Given the description of an element on the screen output the (x, y) to click on. 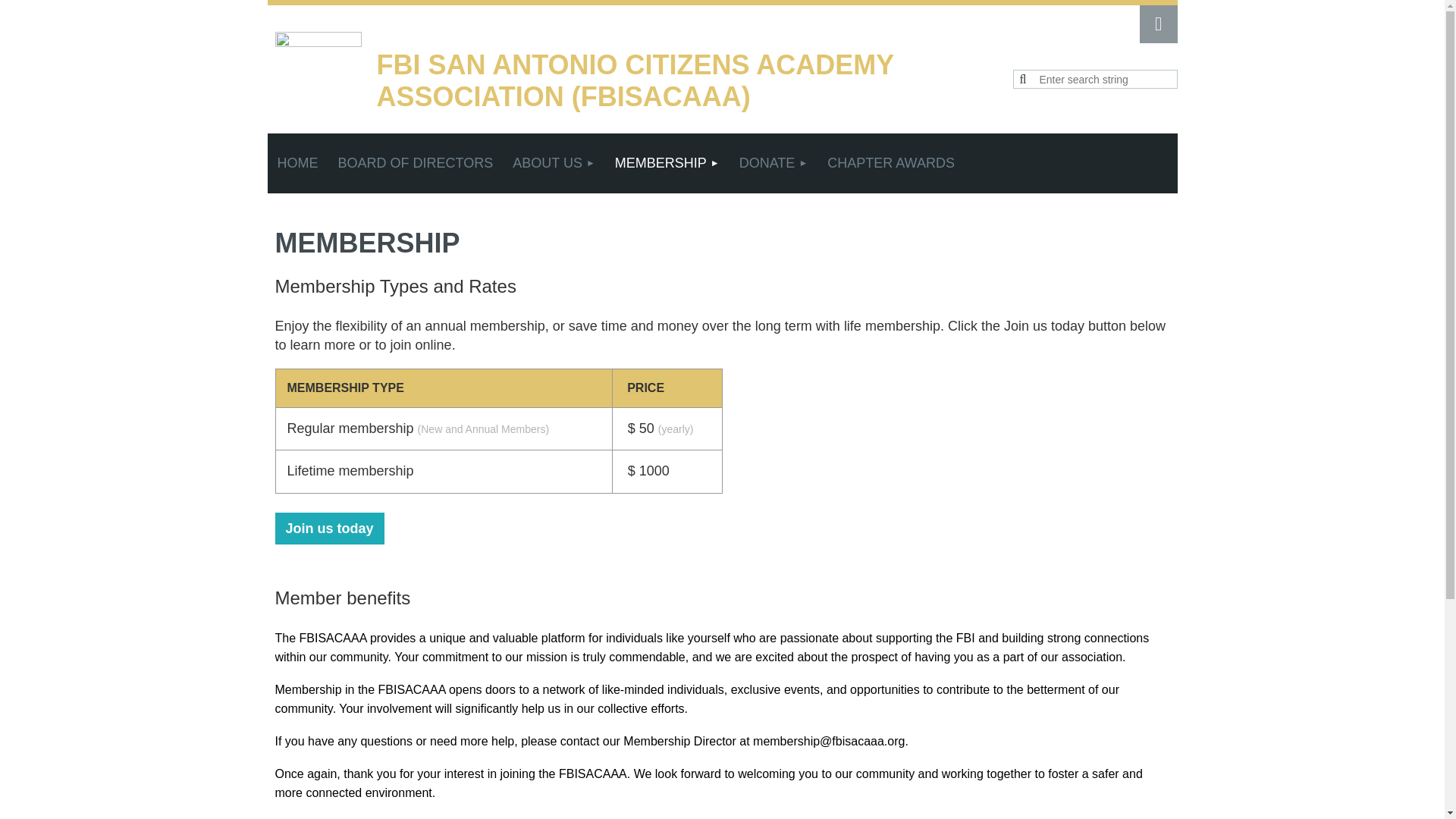
MEMBERSHIP (667, 163)
Join us today (329, 528)
HOME (296, 163)
BOARD OF DIRECTORS (414, 163)
CHAPTER AWARDS (889, 163)
ABOUT US (553, 163)
Log in (1157, 23)
DONATE (773, 163)
BOARD OF DIRECTORS (414, 163)
Home (296, 163)
